Given the description of an element on the screen output the (x, y) to click on. 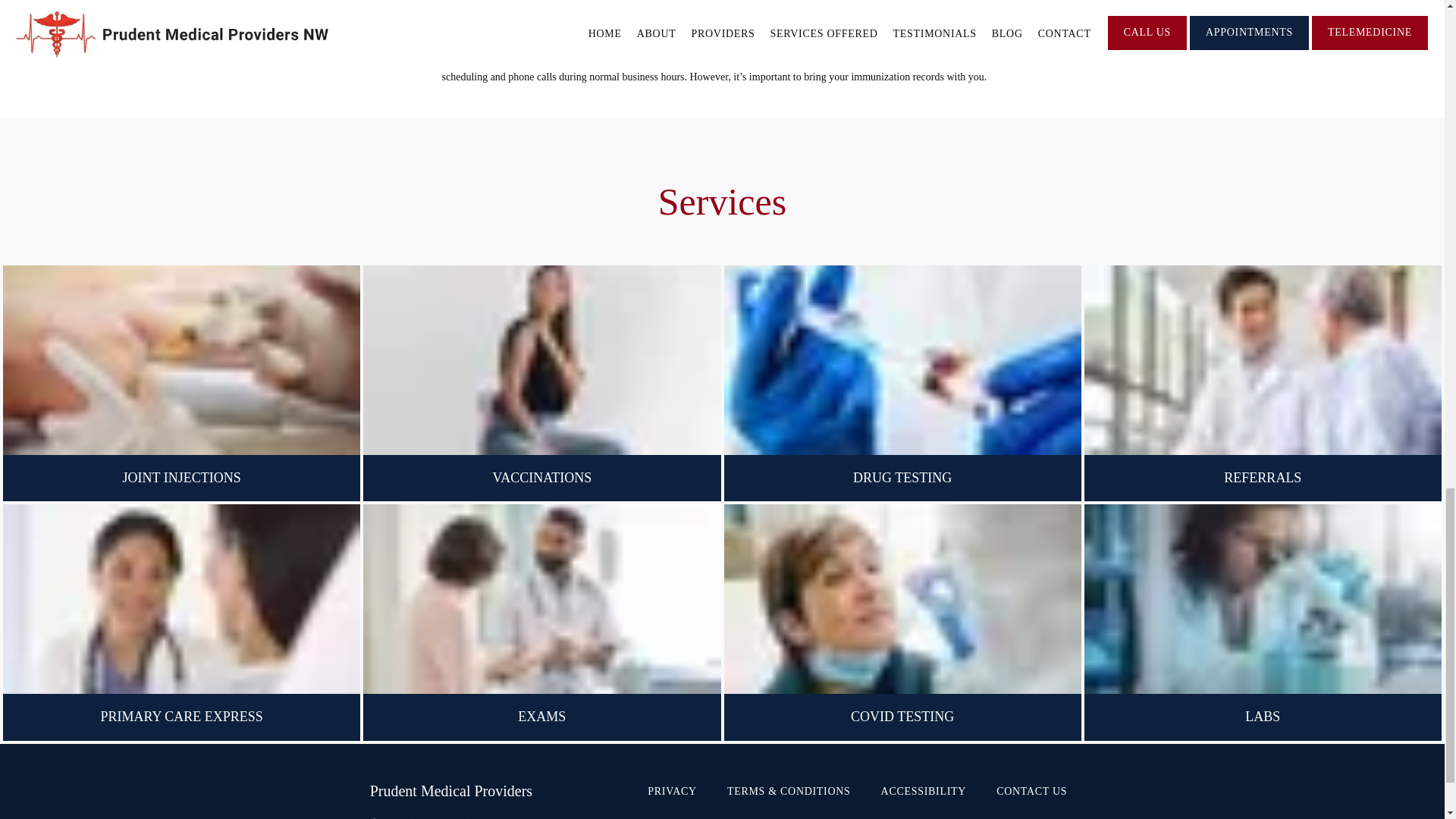
DRUG TESTING (902, 478)
VACCINATIONS (542, 478)
JOINT INJECTIONS (181, 478)
EXAMS (542, 717)
LABS (1261, 717)
PRIMARY CARE EXPRESS (181, 717)
REFERRALS (1262, 478)
PRIVACY (672, 790)
COVID TESTING (901, 717)
